Given the description of an element on the screen output the (x, y) to click on. 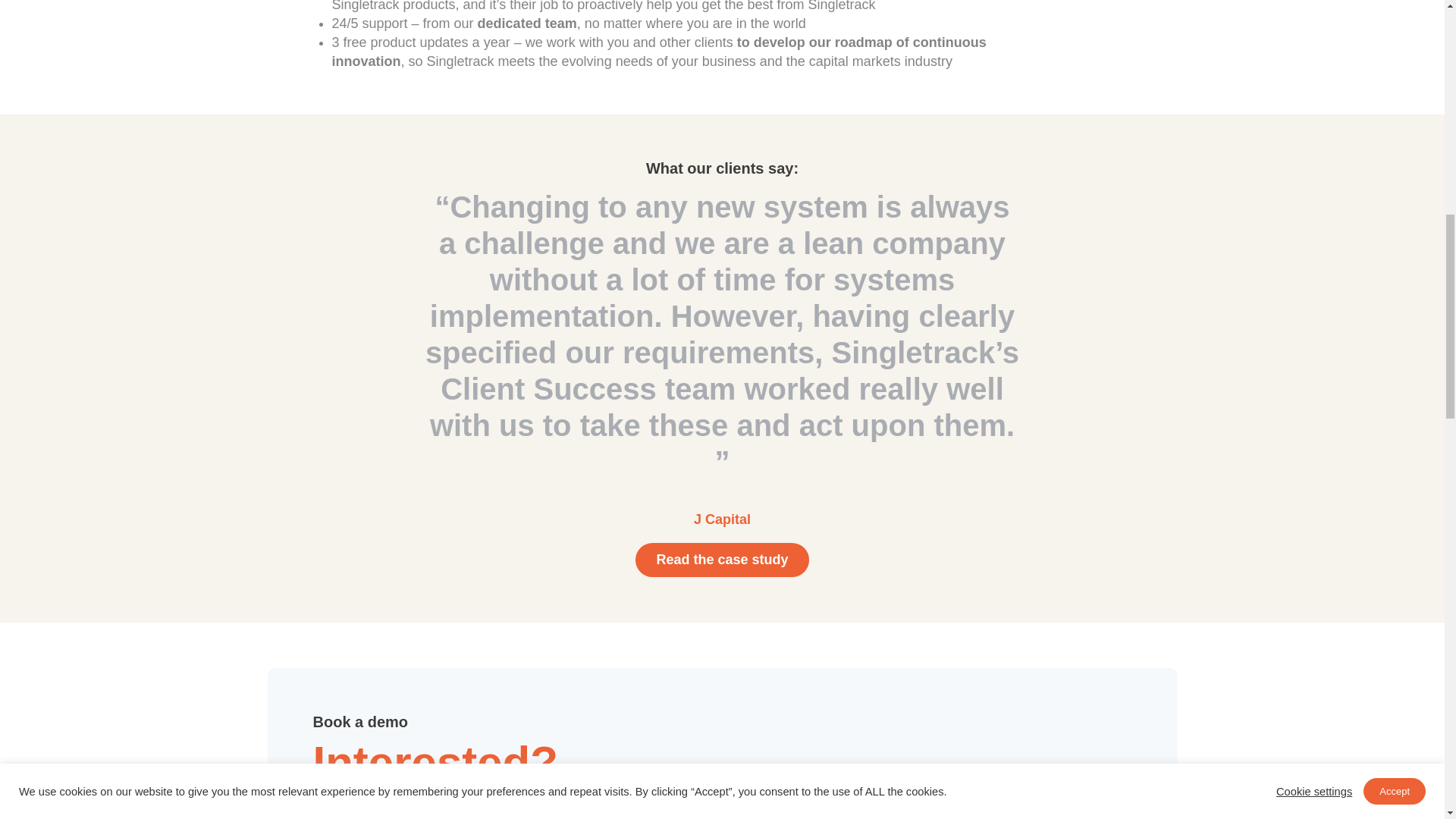
Book a demo (932, 807)
